Given the description of an element on the screen output the (x, y) to click on. 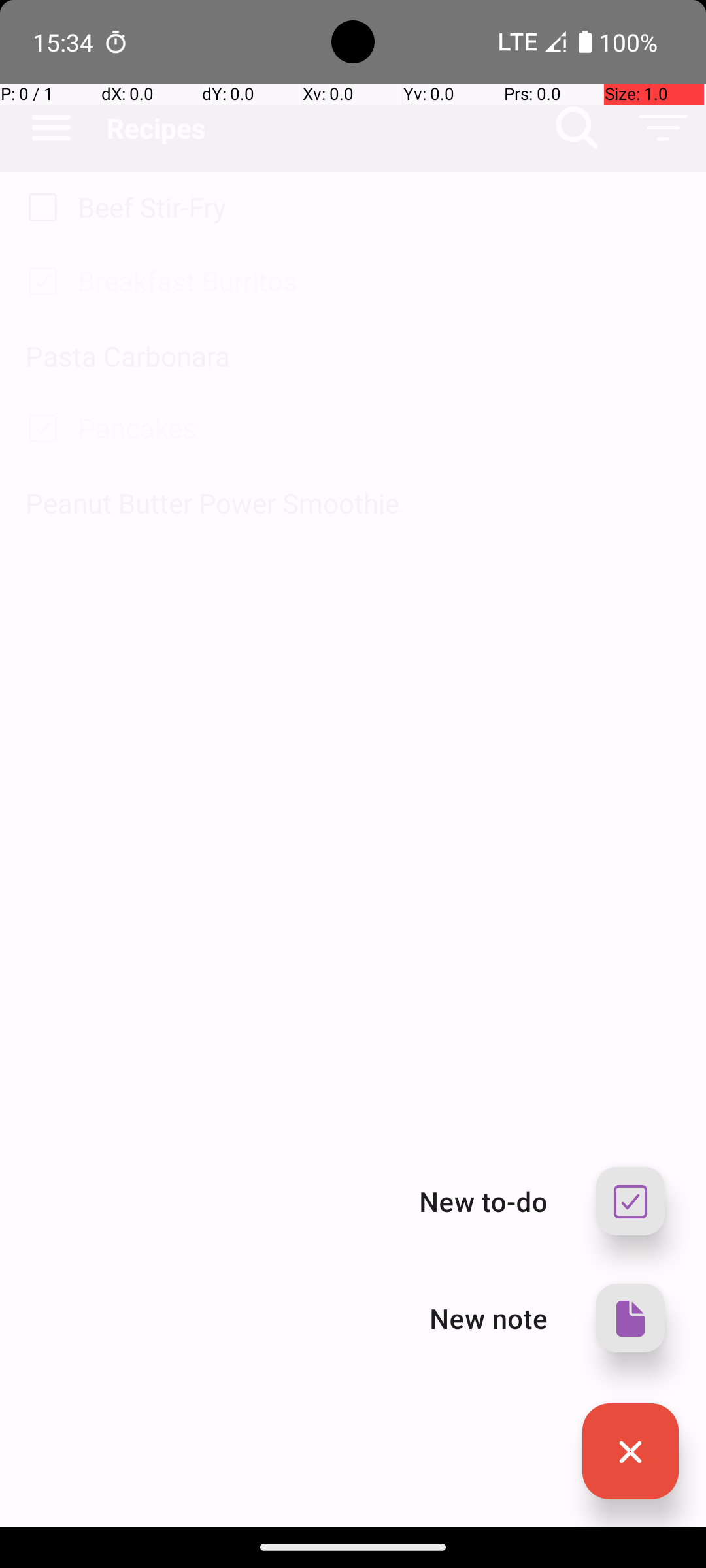
New to-do Element type: android.widget.Button (483, 1201)
New note Element type: android.widget.Button (488, 1317)
Add new, expanded Element type: android.widget.Button (630, 1451)
 Element type: android.widget.TextView (630, 1317)
 Element type: android.widget.TextView (630, 1450)
to-do: Beef Stir-Fry Element type: android.widget.CheckBox (38, 208)
Beef Stir-Fry Element type: android.widget.TextView (378, 206)
to-do: Breakfast Burritos Element type: android.widget.CheckBox (38, 282)
Breakfast Burritos Element type: android.widget.TextView (378, 280)
Pasta Carbonara Element type: android.widget.TextView (352, 355)
to-do: Pancakes Element type: android.widget.CheckBox (38, 429)
Pancakes Element type: android.widget.TextView (378, 427)
Peanut Butter Power Smoothie Element type: android.widget.TextView (352, 502)
